Given the description of an element on the screen output the (x, y) to click on. 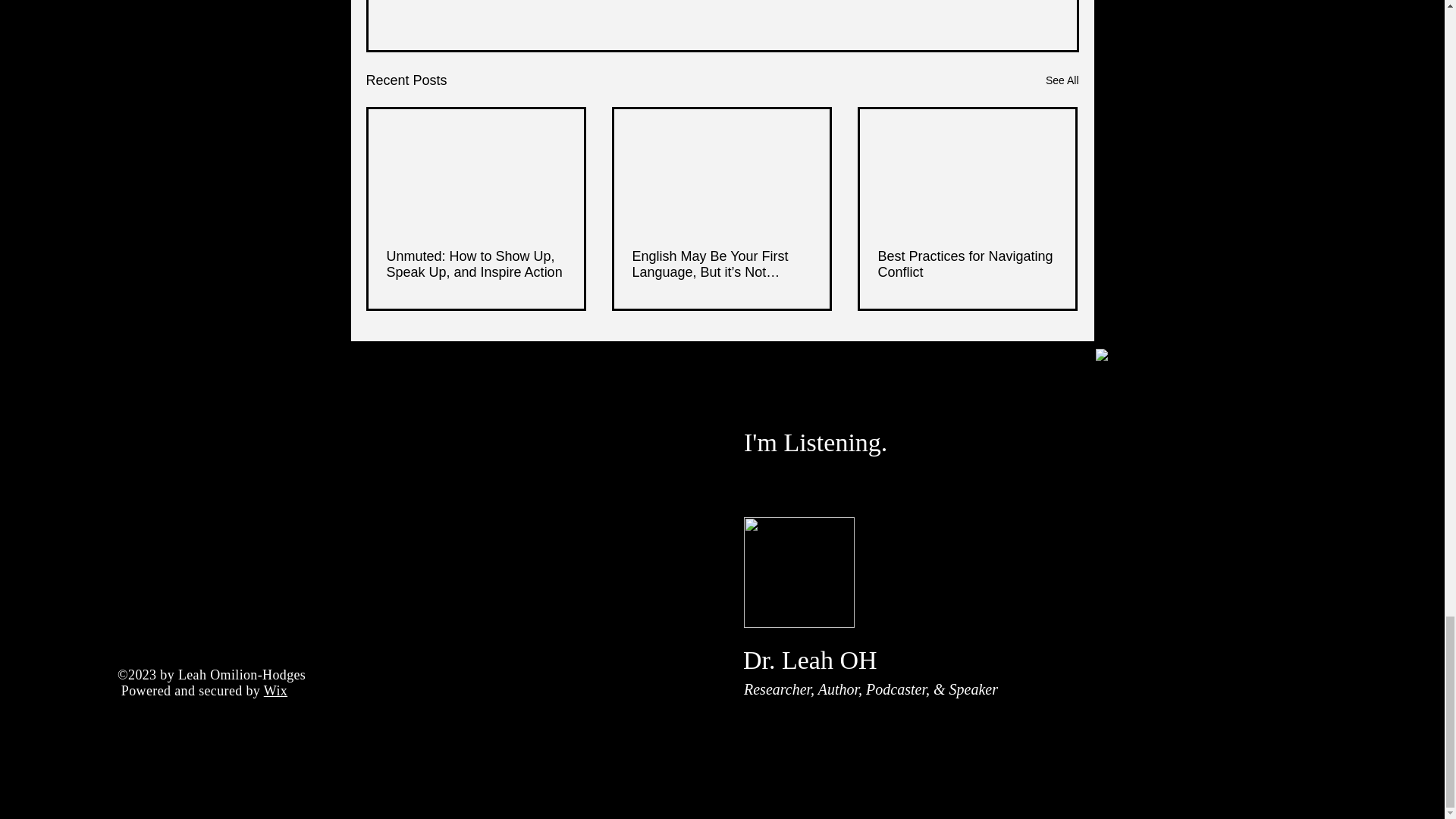
Speaker (973, 688)
Wix (274, 690)
See All (1061, 80)
Unmuted: How to Show Up, Speak Up, and Inspire Action (476, 264)
Best Practices for Navigating Conflict (967, 264)
Dr. Leah OH (809, 660)
Researcher,  (781, 688)
